Given the description of an element on the screen output the (x, y) to click on. 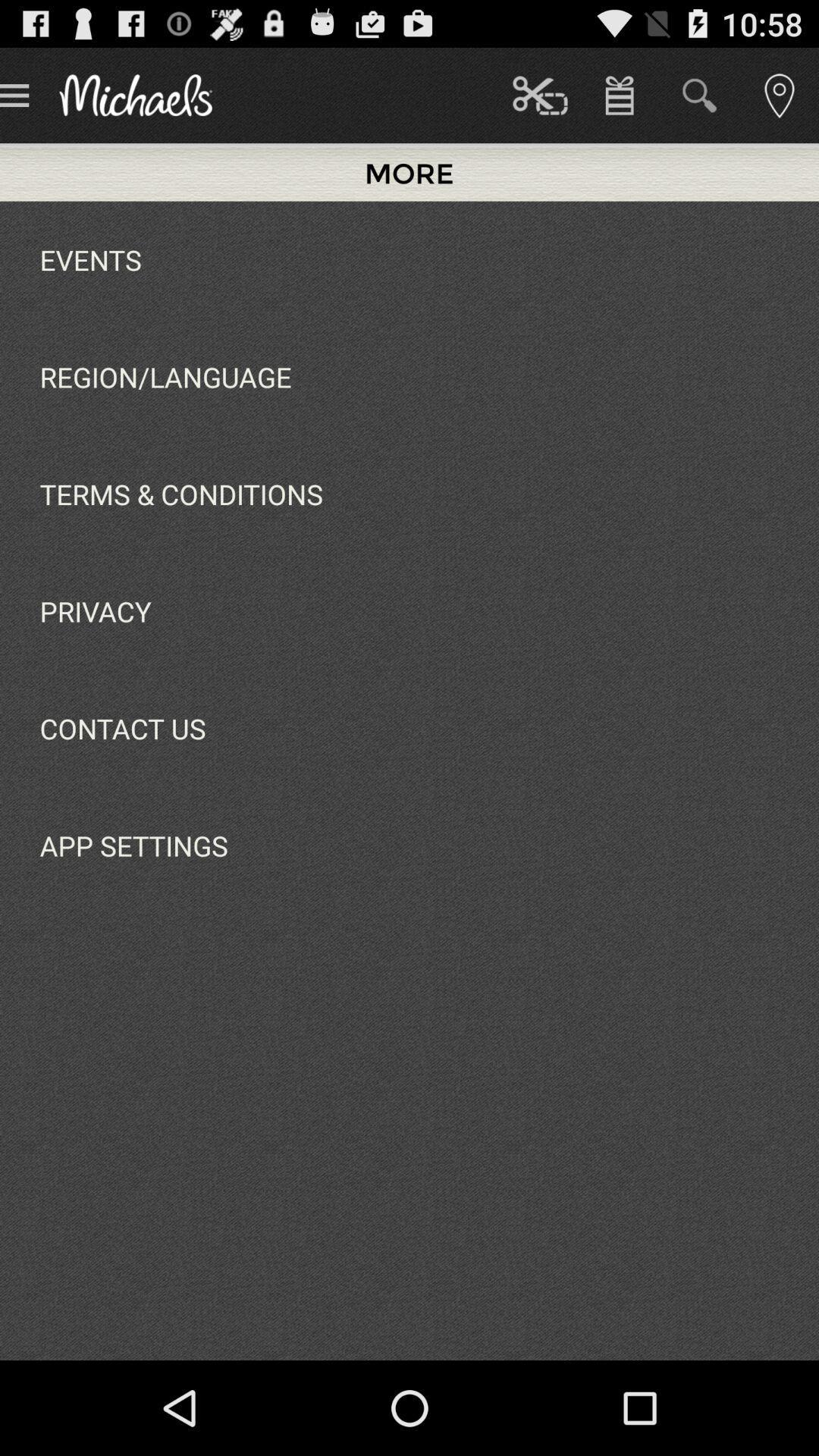
scroll to terms & conditions icon (181, 494)
